Given the description of an element on the screen output the (x, y) to click on. 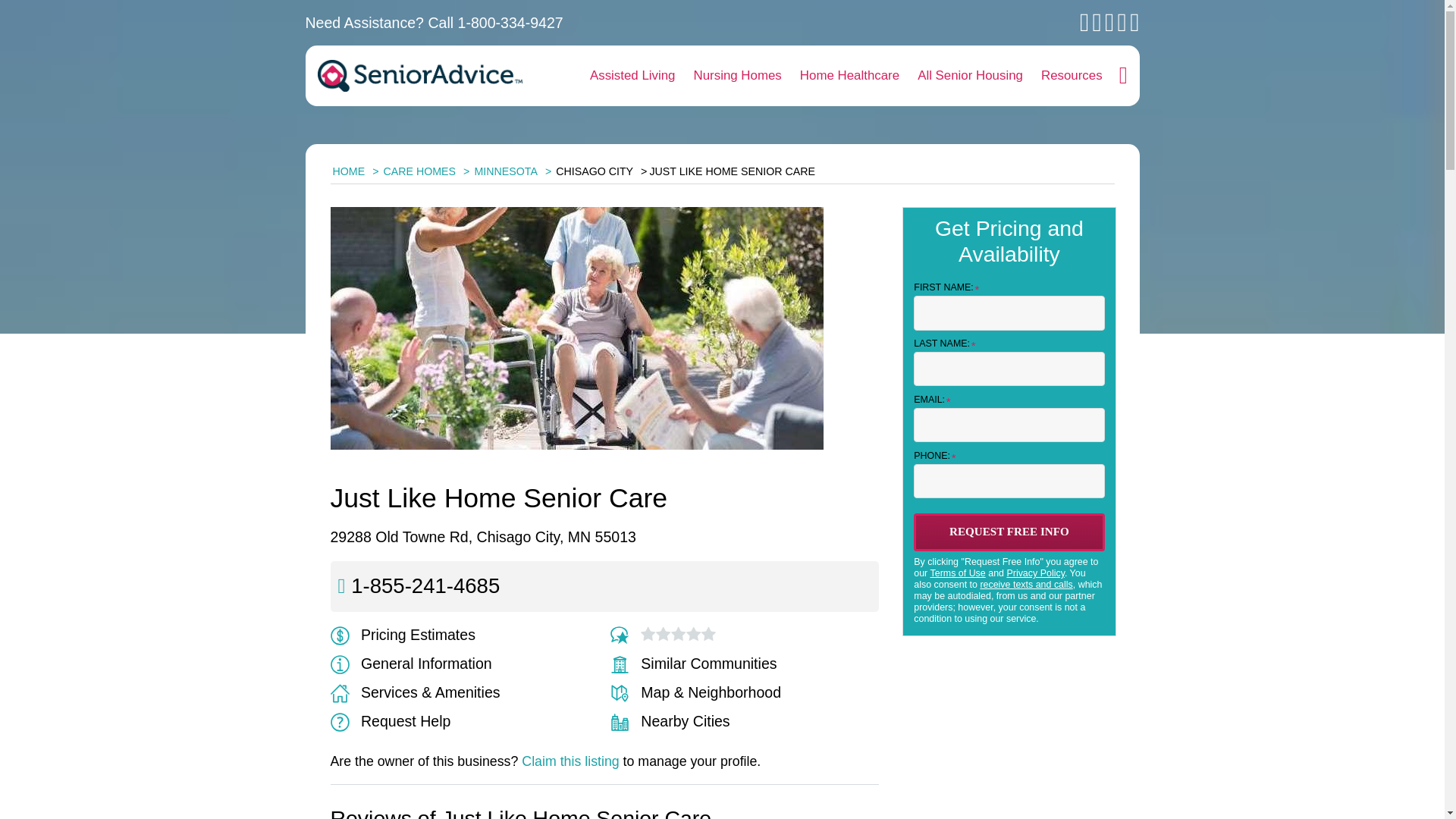
Request Help (390, 720)
All Senior Housing (970, 75)
Home Healthcare (849, 75)
Cities Around Chisago City, MN (670, 720)
Request Free Info (1008, 531)
Resources (1072, 75)
Assisted Living (632, 75)
Map of Just Like Home Senior Care in Chisago City, MN (695, 692)
About Just Like Home Senior Care in Chisago City, MN (411, 663)
Nursing Homes (737, 75)
Reviews of Just Like Home Senior Care in Chisago City, MN (623, 634)
1-800-334-9427 (510, 22)
